Given the description of an element on the screen output the (x, y) to click on. 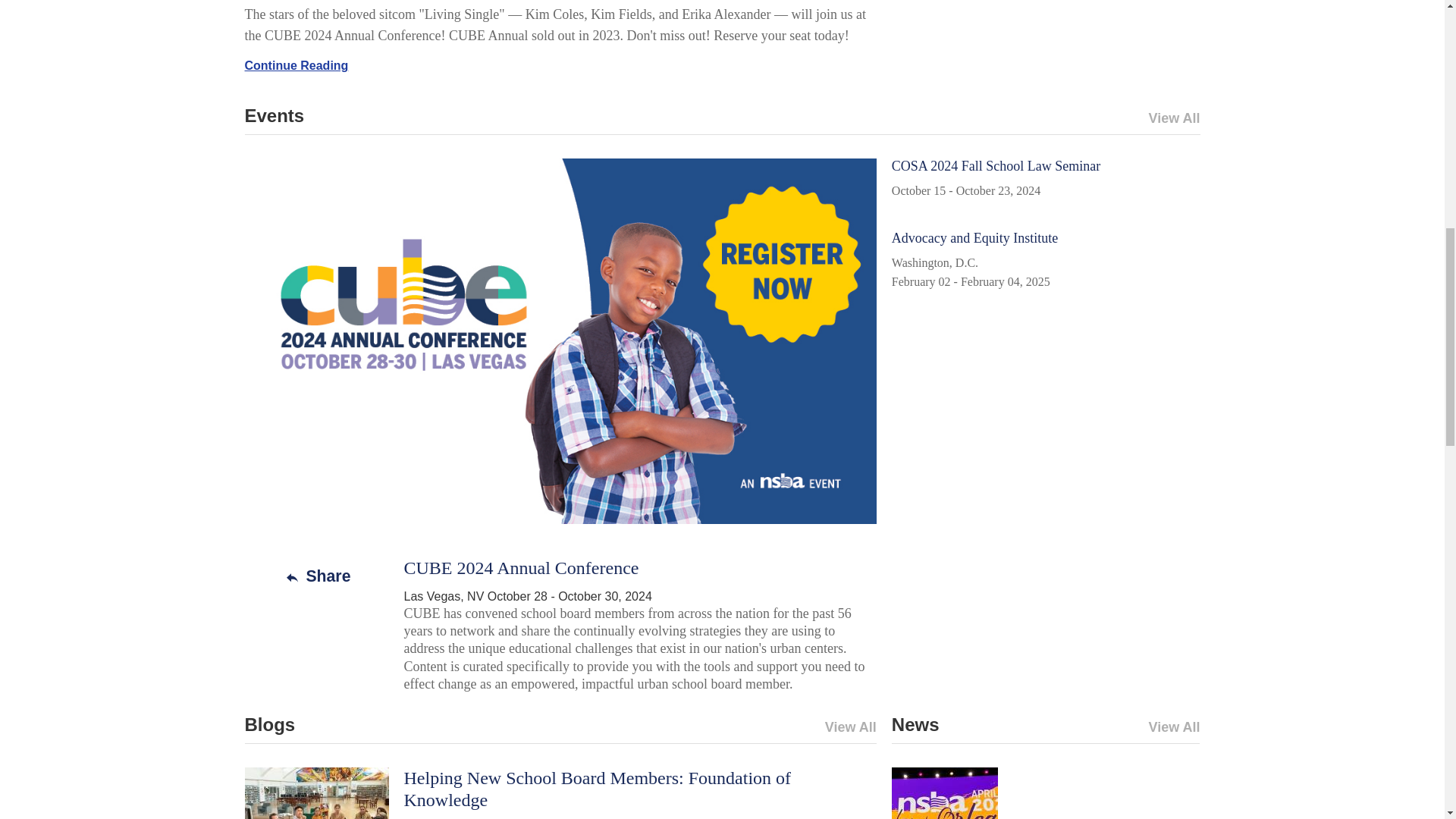
Advocacy and Equity Institute (974, 237)
View All (960, 118)
Continue Reading (295, 65)
CUBE 2024 Annual Conference (521, 567)
Share (316, 575)
COSA 2024 Fall School Law Seminar (995, 165)
Helping New School Board Members: Foundation of Knowledge (596, 788)
View All (718, 727)
